Given the description of an element on the screen output the (x, y) to click on. 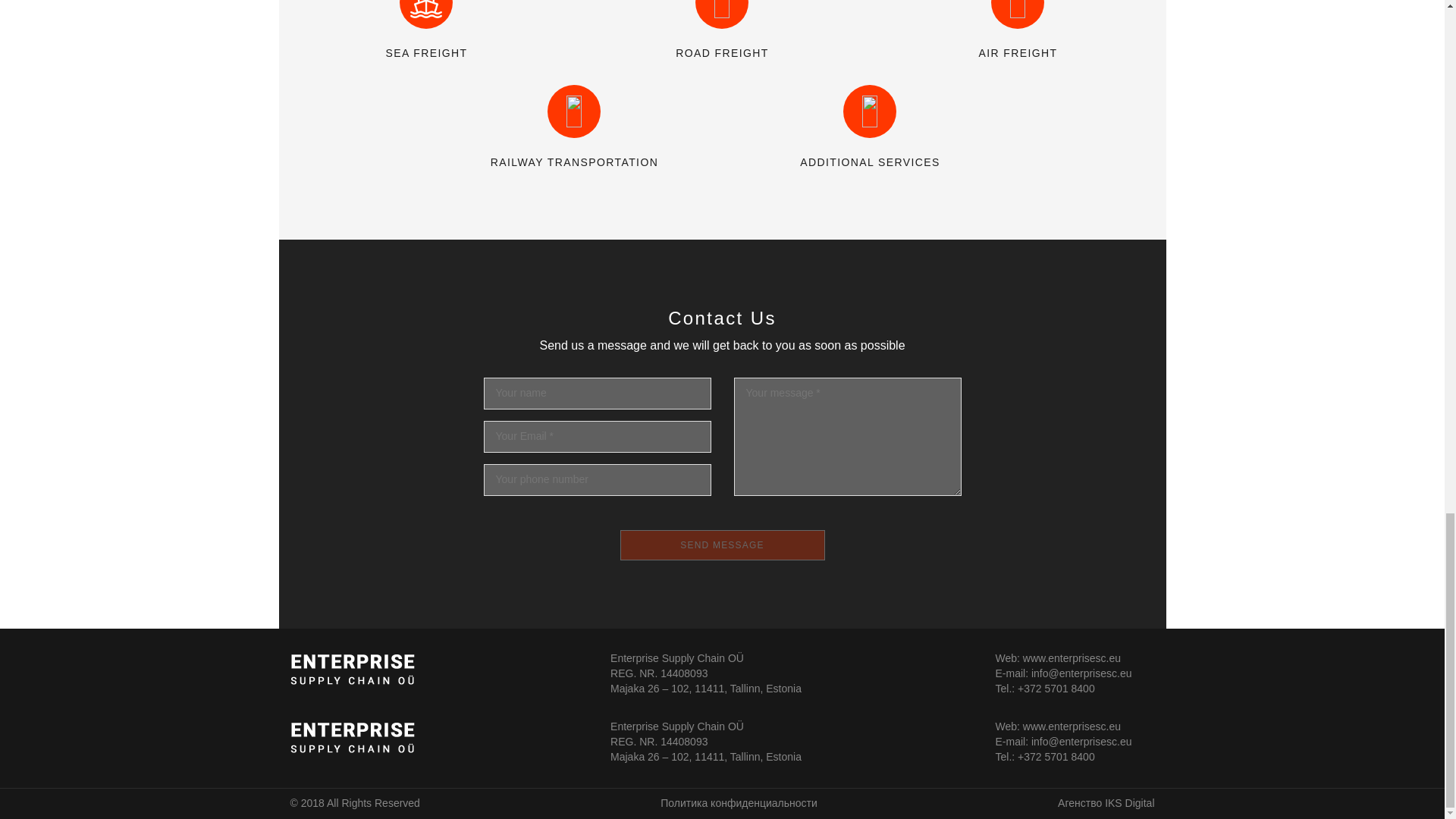
Send Message (722, 544)
Send Message (722, 544)
www.enterprisesc.eu (1072, 657)
AIR FREIGHT (1017, 53)
IKS Digital (1129, 802)
ADDITIONAL SERVICES (869, 162)
RAILWAY TRANSPORTATION (574, 162)
www.enterprisesc.eu (1072, 726)
SEA FREIGHT (425, 53)
ROAD FREIGHT (722, 53)
